Given the description of an element on the screen output the (x, y) to click on. 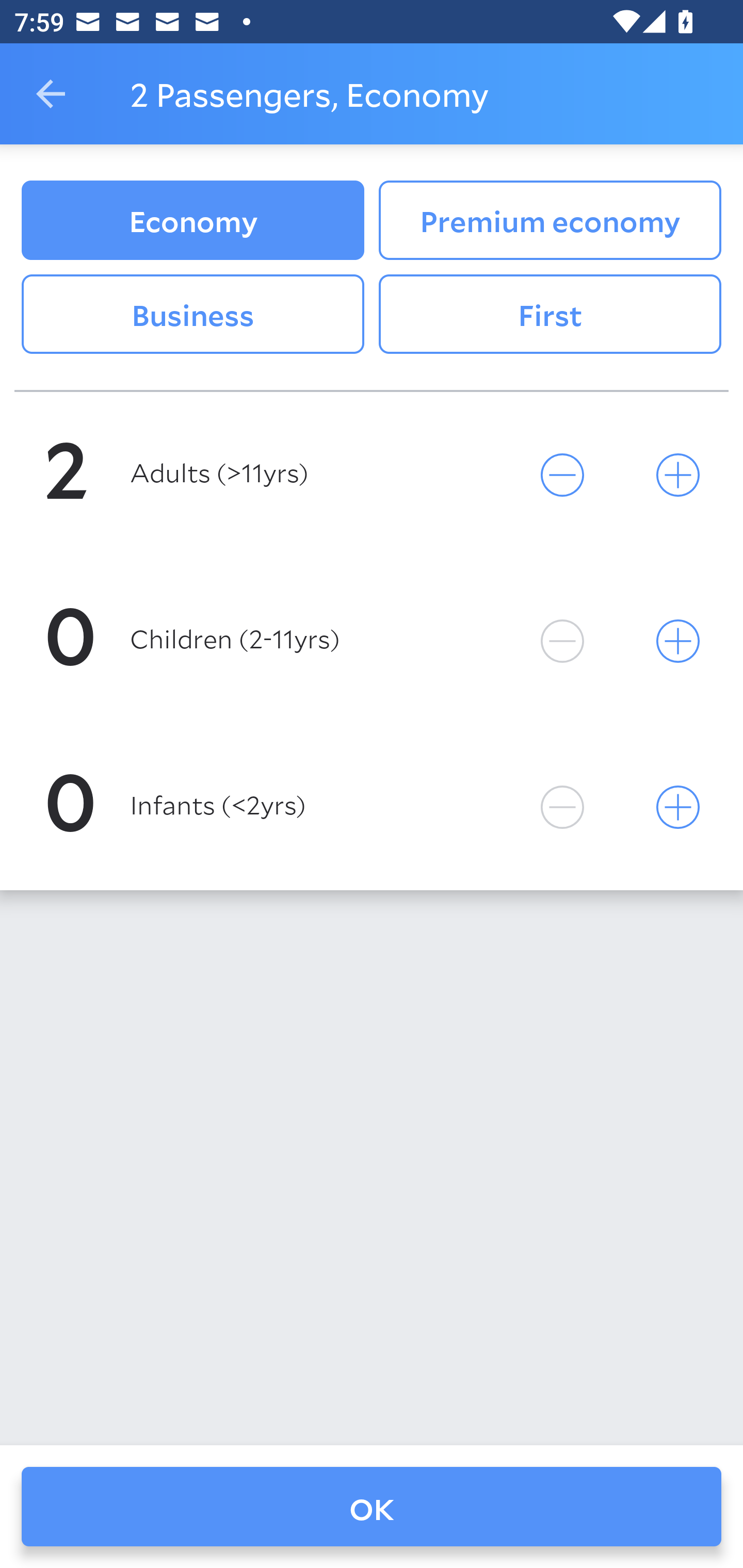
Navigate up (50, 93)
Economy (192, 220)
Premium economy (549, 220)
Business (192, 314)
First (549, 314)
OK (371, 1506)
